Given the description of an element on the screen output the (x, y) to click on. 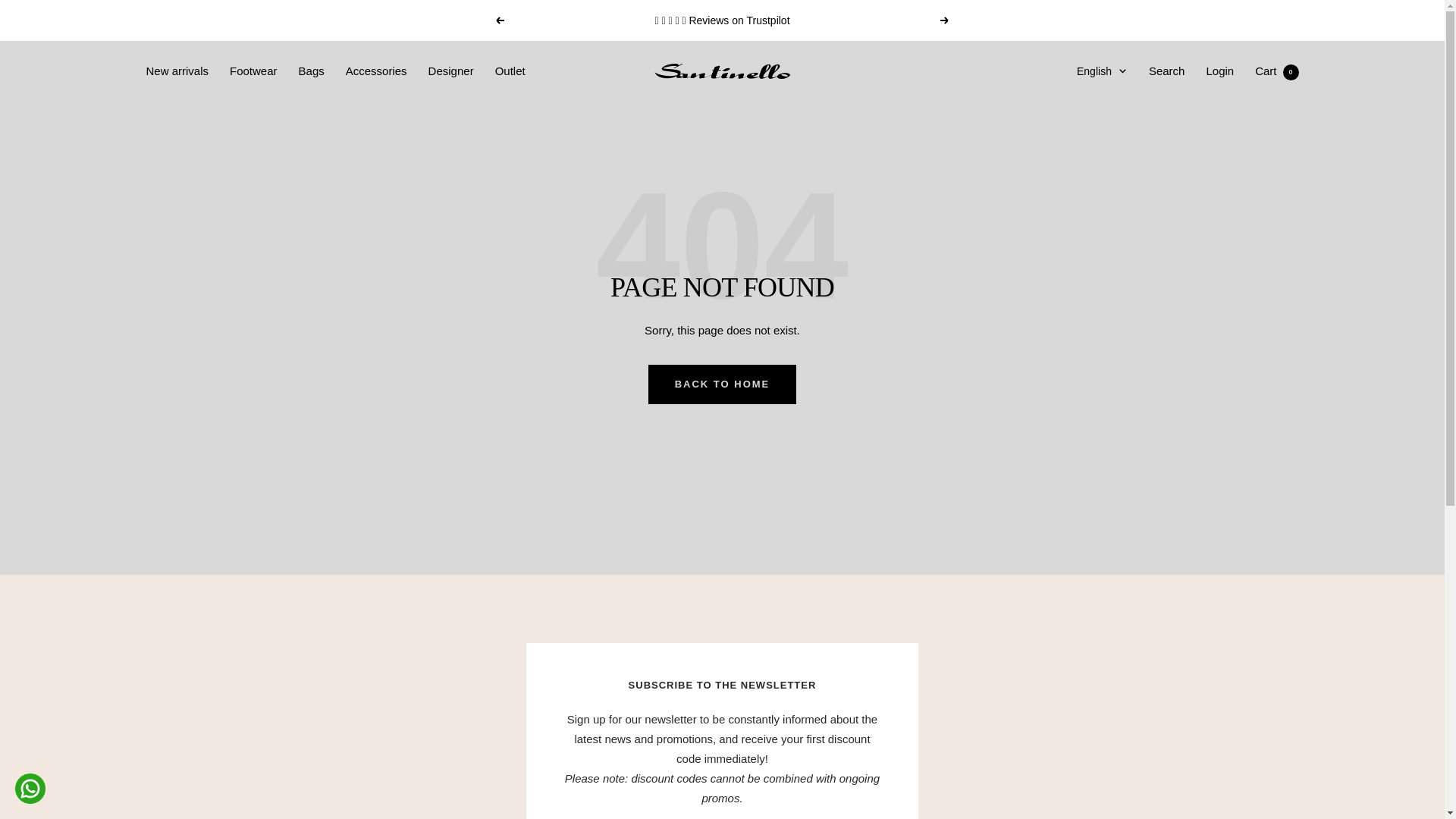
it (1276, 70)
Designer (1095, 123)
Accessories (451, 71)
Footwear (376, 71)
BACK TO HOME (254, 71)
Search (721, 384)
Outlet (1166, 70)
en (510, 71)
Next (1095, 148)
